Given the description of an element on the screen output the (x, y) to click on. 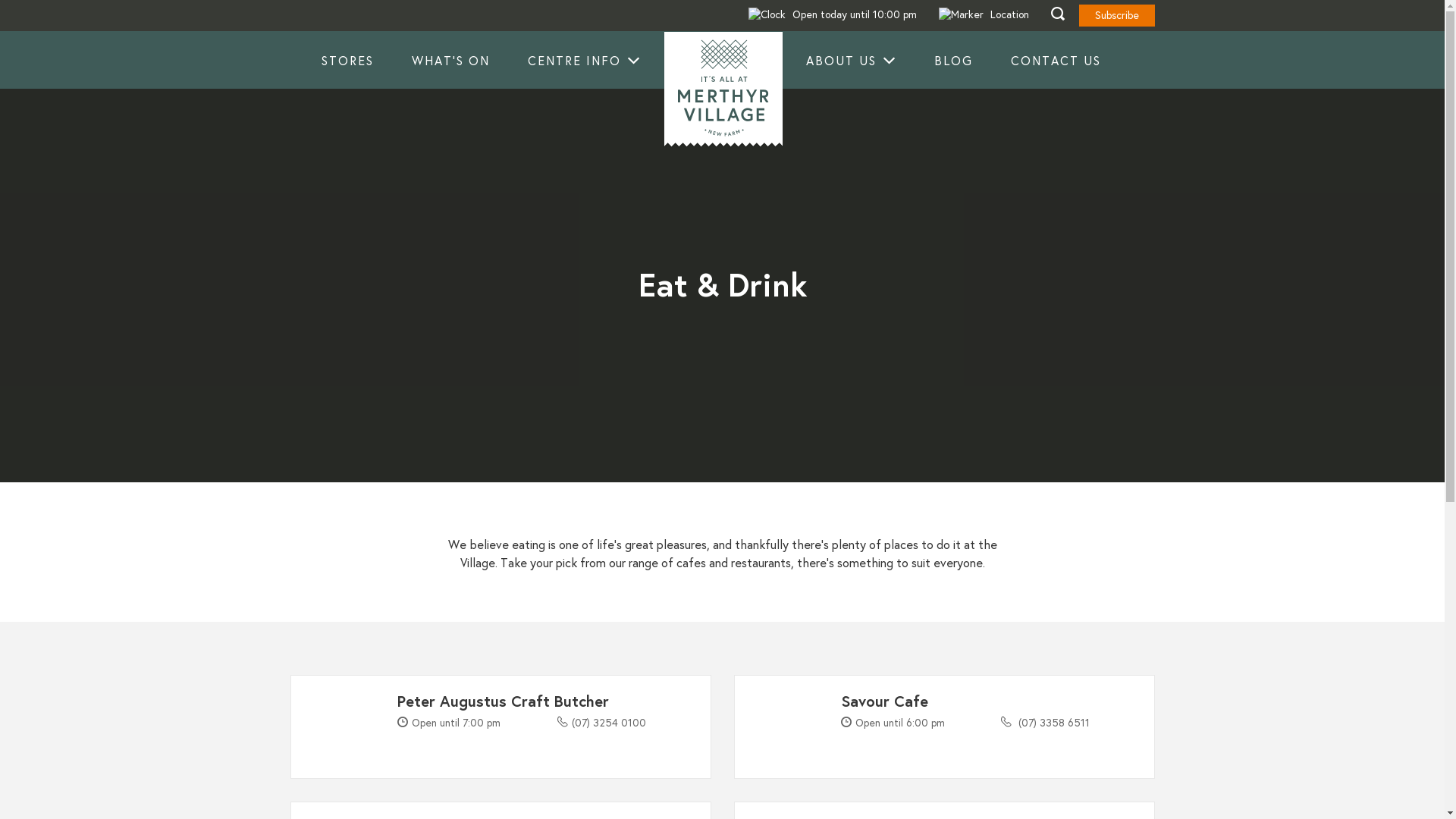
CONTACT US Element type: text (1055, 60)
ABOUT US Element type: text (850, 60)
BLOG Element type: text (953, 60)
CENTRE INFO Element type: text (583, 60)
Location Element type: text (983, 14)
STORES Element type: text (347, 60)
Subscribe Element type: text (1116, 15)
Savour Cafe
Open until 6:00 pm
(07) 3358 6511 Element type: text (944, 726)
Open today until 10:00 pm Element type: text (831, 14)
